Given the description of an element on the screen output the (x, y) to click on. 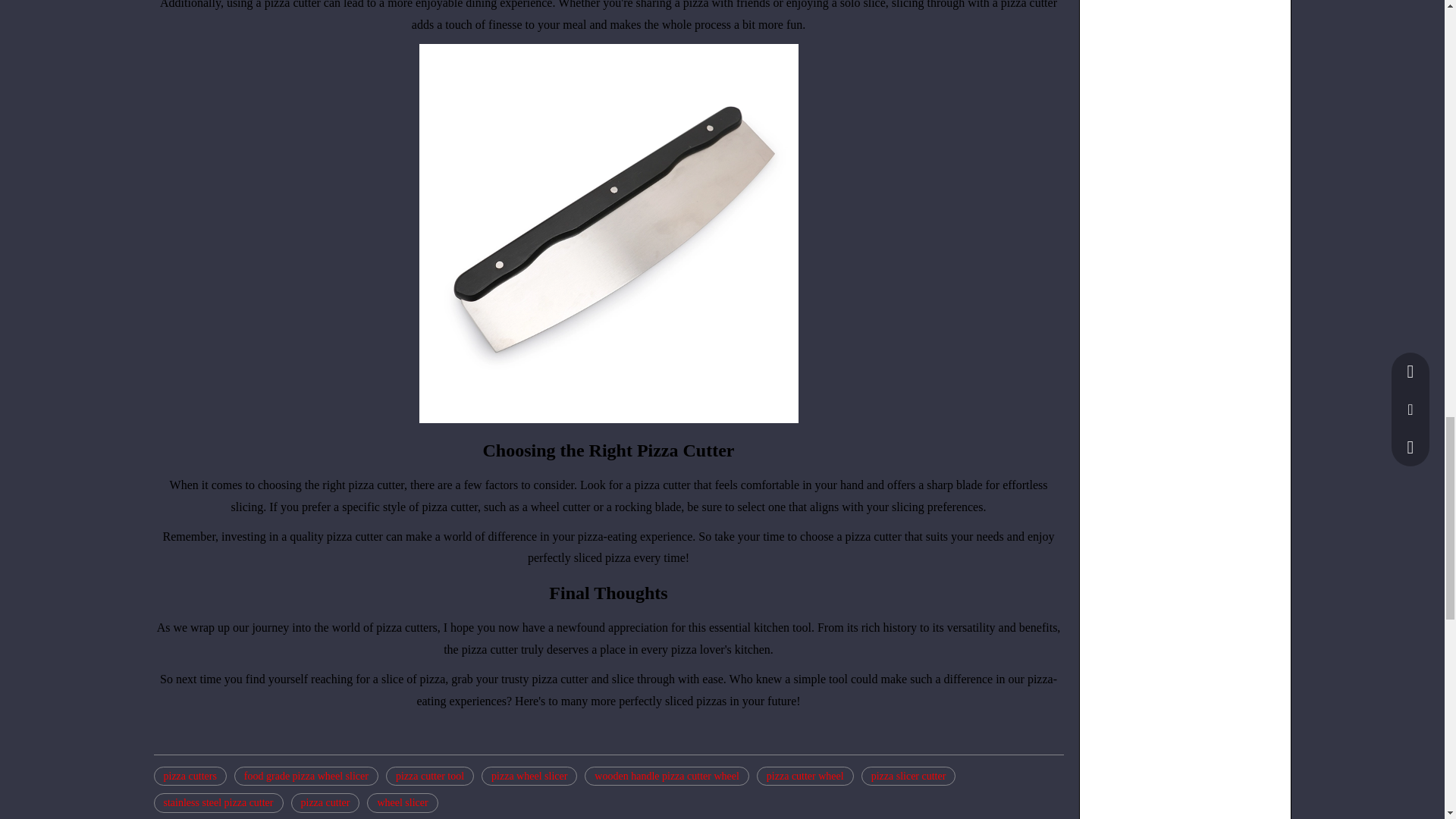
pizza cutter wheel (805, 776)
pizza cutters (188, 776)
food grade pizza wheel slicer (306, 776)
wooden handle pizza cutter wheel (666, 776)
pizza cutter wheel (805, 776)
wheel slicer (402, 803)
pizza cutter tool (429, 776)
pizza slicer cutter (908, 776)
pizza wheel slicer (528, 776)
pizza cutter (325, 803)
pizza cutter tool (429, 776)
pizza cutters (188, 776)
food grade pizza wheel slicer (306, 776)
wooden handle pizza cutter wheel (666, 776)
